Given the description of an element on the screen output the (x, y) to click on. 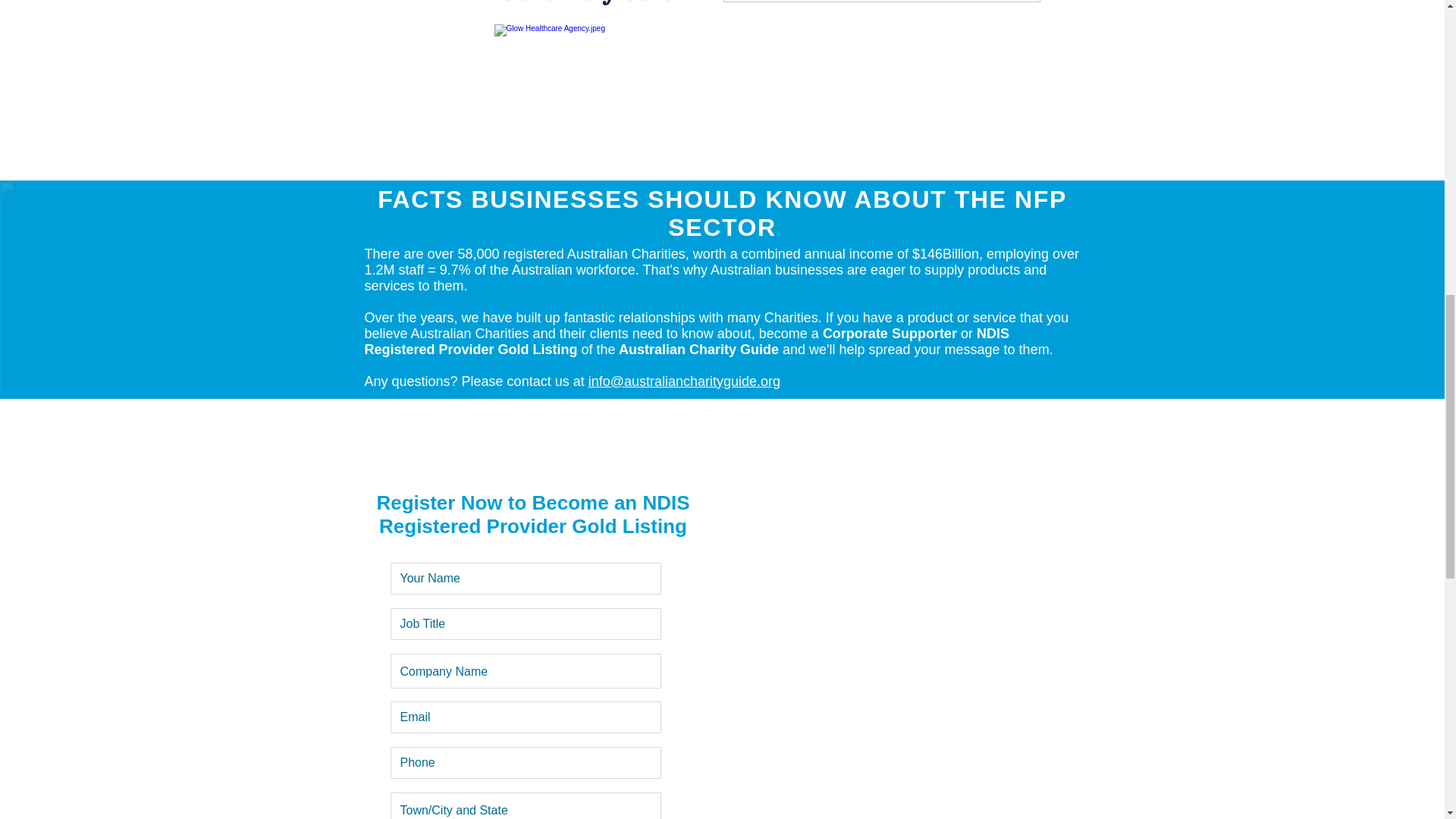
WGC-crop2.png (564, 3)
